Given the description of an element on the screen output the (x, y) to click on. 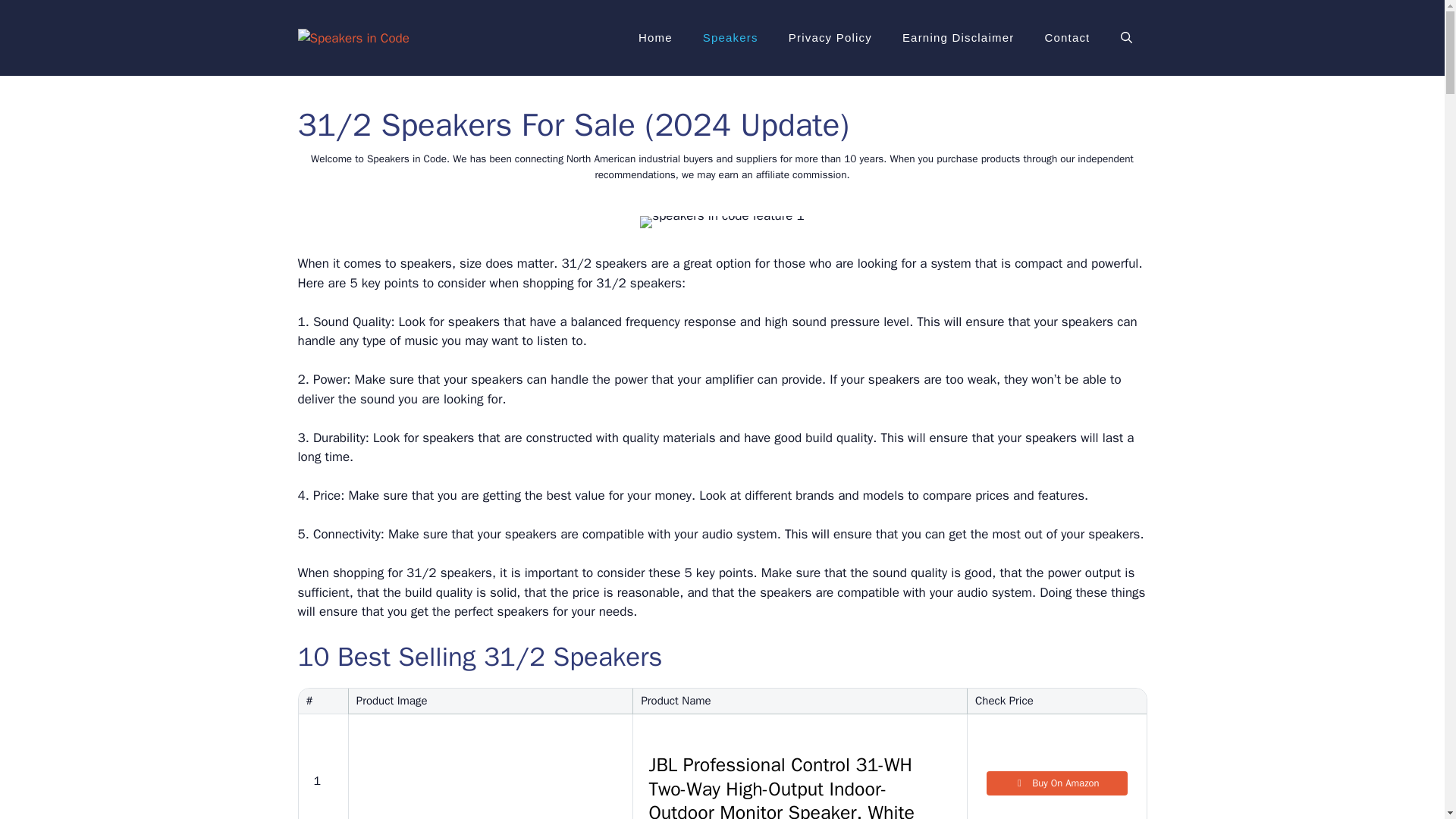
Home (655, 37)
Speakers (730, 37)
Check details from Amazon (1056, 783)
Earning Disclaimer (957, 37)
Contact (1067, 37)
Privacy Policy (829, 37)
Buy On Amazon (1056, 783)
